Given the description of an element on the screen output the (x, y) to click on. 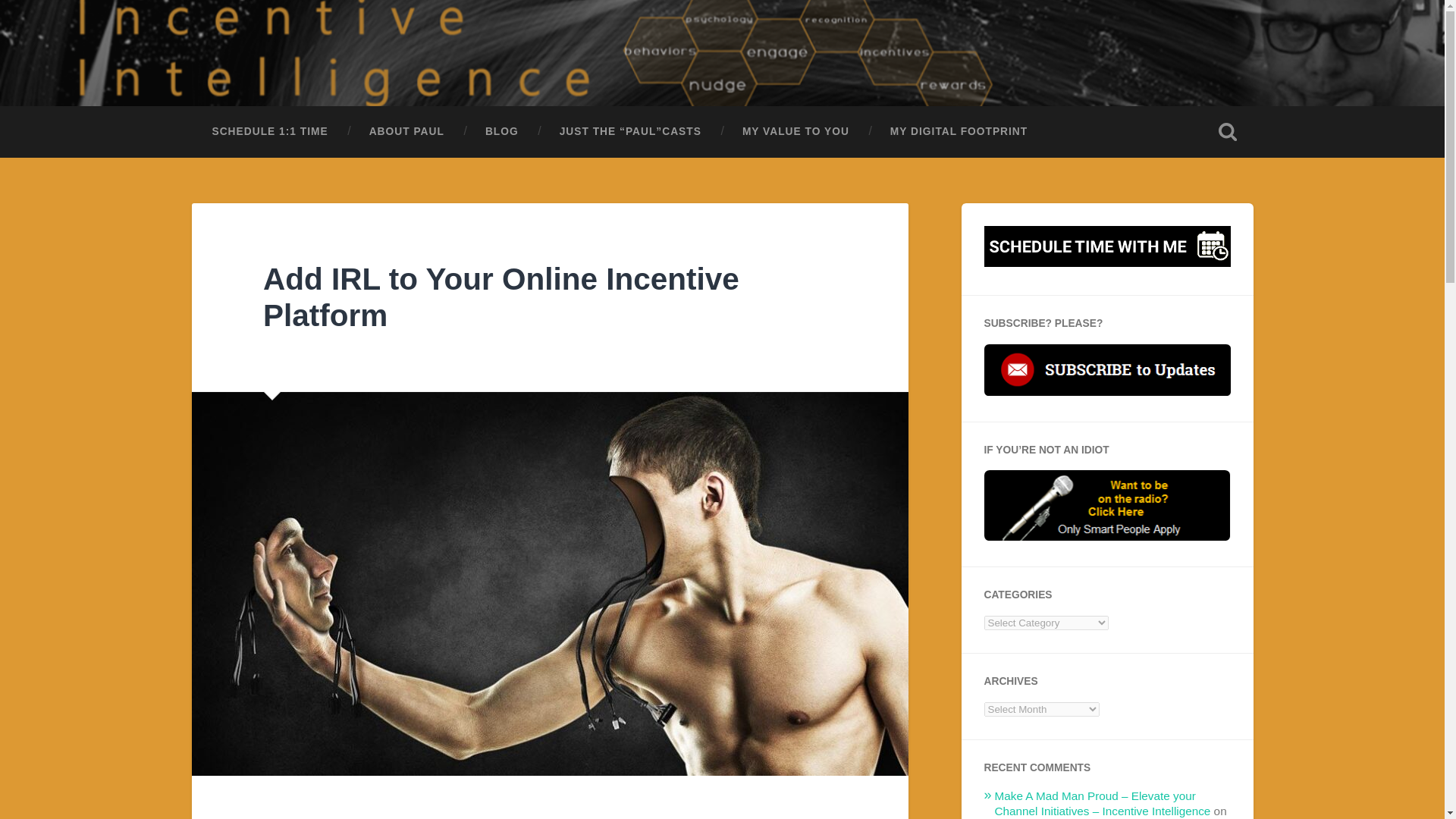
SCHEDULE 1:1 TIME (268, 132)
MY DIGITAL FOOTPRINT (958, 132)
Add IRL to Your Online Incentive Platform (501, 297)
BLOG (501, 132)
ABOUT PAUL (406, 132)
MY VALUE TO YOU (795, 132)
